Given the description of an element on the screen output the (x, y) to click on. 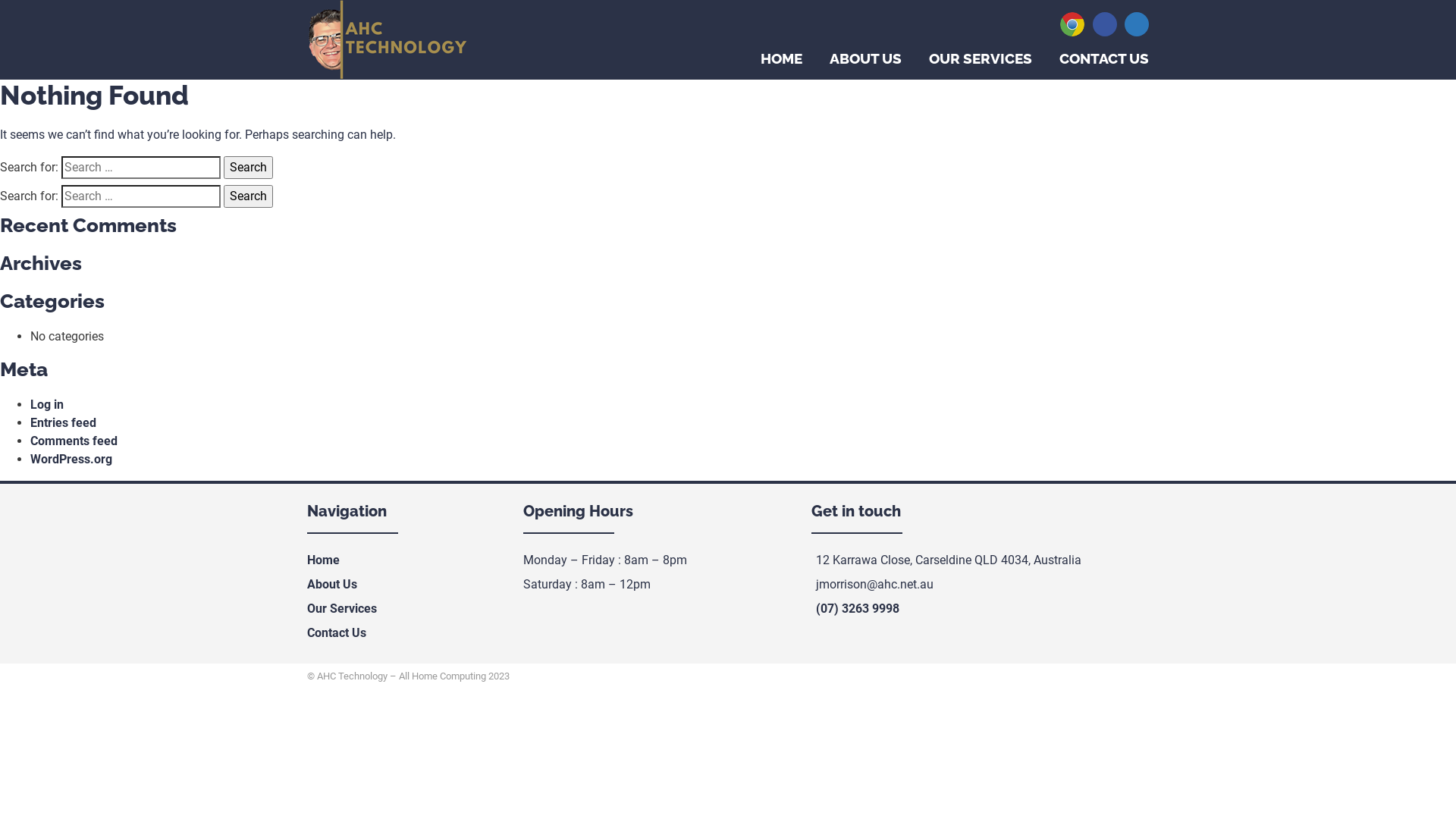
Entries feed Element type: text (63, 422)
WordPress.org Element type: text (71, 458)
Our Services Element type: text (341, 608)
Contact Us Element type: text (336, 632)
CONTACT US Element type: text (1103, 58)
ABOUT US Element type: text (865, 58)
About Us Element type: text (332, 584)
HOME Element type: text (781, 58)
OUR SERVICES Element type: text (980, 58)
Search Element type: text (248, 167)
(07) 3263 9998 Element type: text (857, 608)
Home Element type: text (323, 559)
Comments feed Element type: text (73, 440)
Log in Element type: text (46, 404)
Search Element type: text (248, 196)
